Given the description of an element on the screen output the (x, y) to click on. 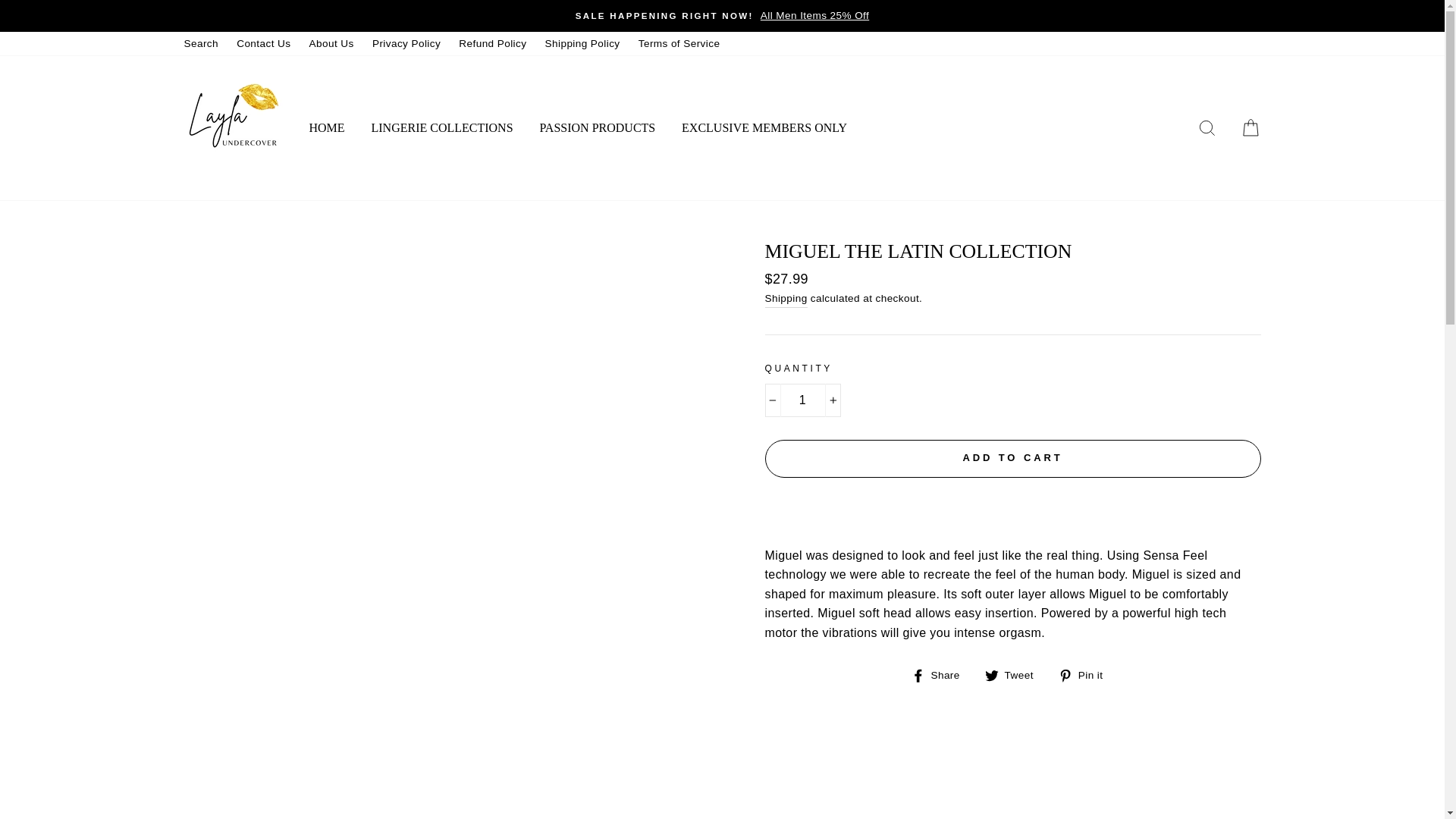
Tweet on Twitter (1015, 675)
1 (802, 400)
Share on Facebook (941, 675)
Pin on Pinterest (1085, 675)
